Given the description of an element on the screen output the (x, y) to click on. 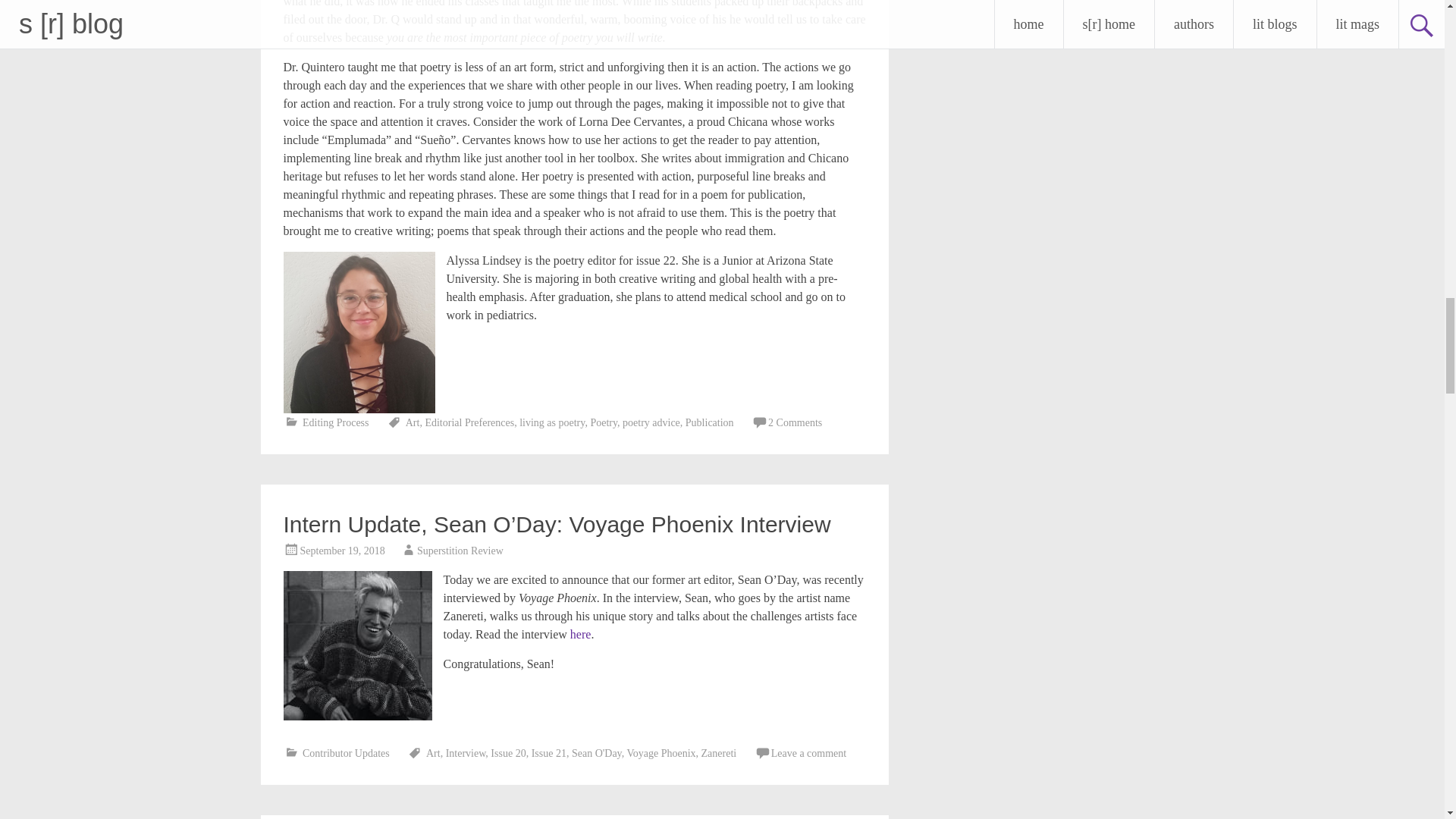
Art (413, 422)
Editing Process (335, 422)
living as poetry (552, 422)
Poetry (603, 422)
Editorial Preferences (469, 422)
